Given the description of an element on the screen output the (x, y) to click on. 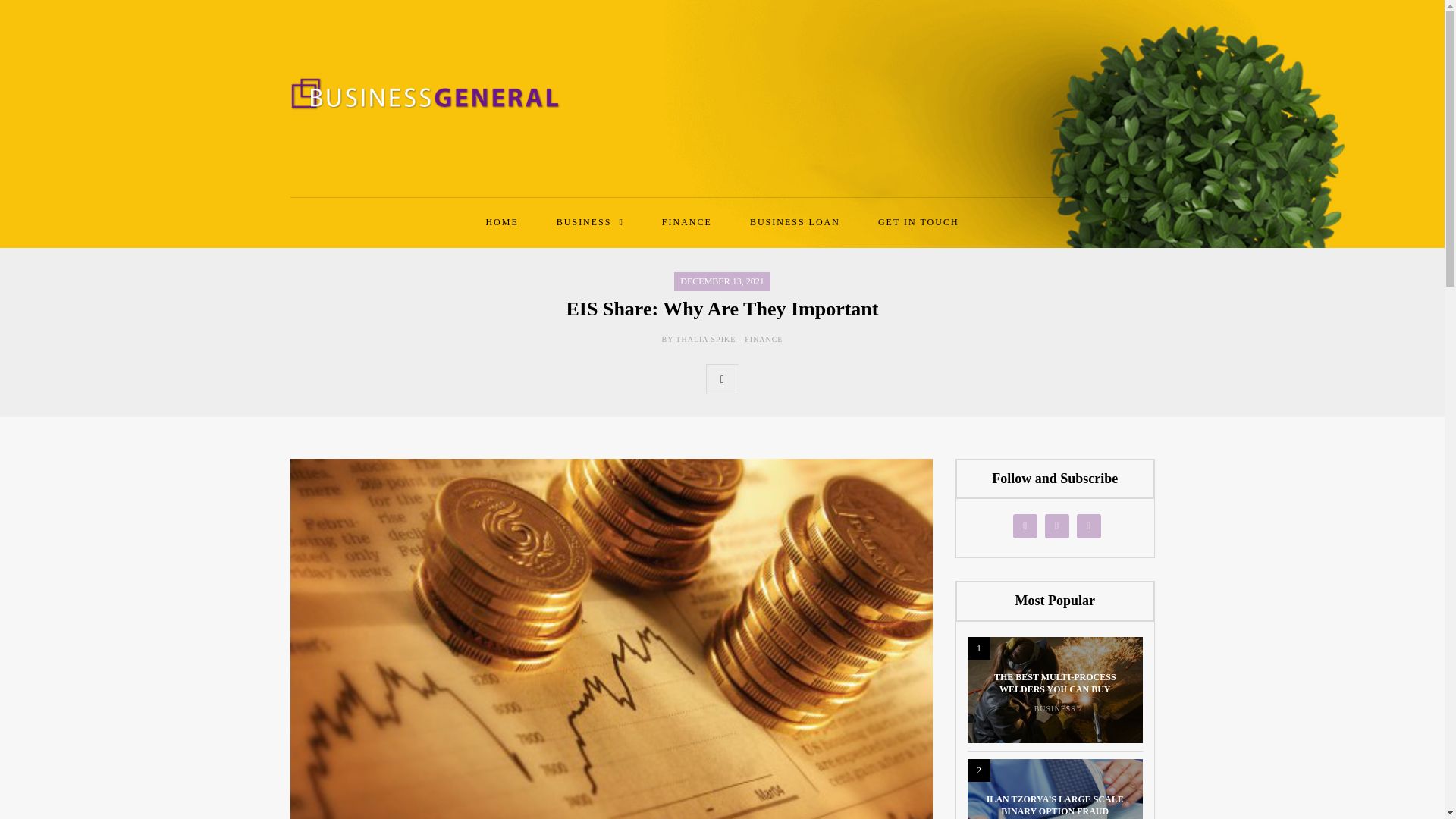
BUSINESS (1054, 708)
FINANCE (687, 222)
GET IN TOUCH (918, 222)
THE BEST MULTI-PROCESS WELDERS YOU CAN BUY (1055, 682)
BUSINESS (590, 222)
BUSINESS LOAN (794, 222)
FINANCE (763, 338)
HOME (501, 222)
